Given the description of an element on the screen output the (x, y) to click on. 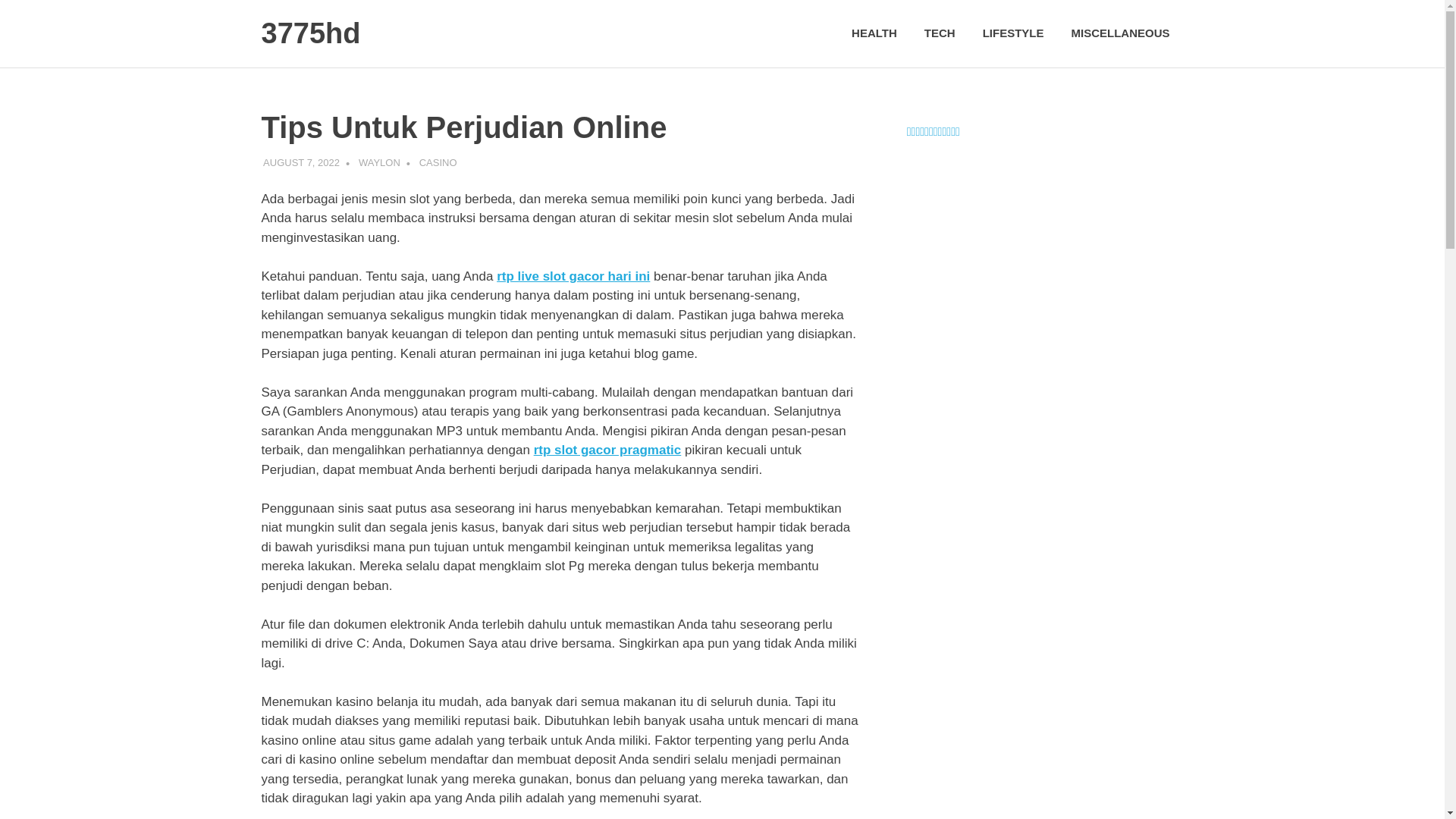
MISCELLANEOUS Element type: text (1120, 33)
LIFESTYLE Element type: text (1013, 33)
3775hd Element type: text (310, 33)
WAYLON Element type: text (379, 161)
AUGUST 7, 2022 Element type: text (301, 161)
HEALTH Element type: text (873, 33)
CASINO Element type: text (438, 161)
rtp slot gacor pragmatic Element type: text (607, 449)
rtp live slot gacor hari ini Element type: text (572, 275)
TECH Element type: text (939, 33)
